Given the description of an element on the screen output the (x, y) to click on. 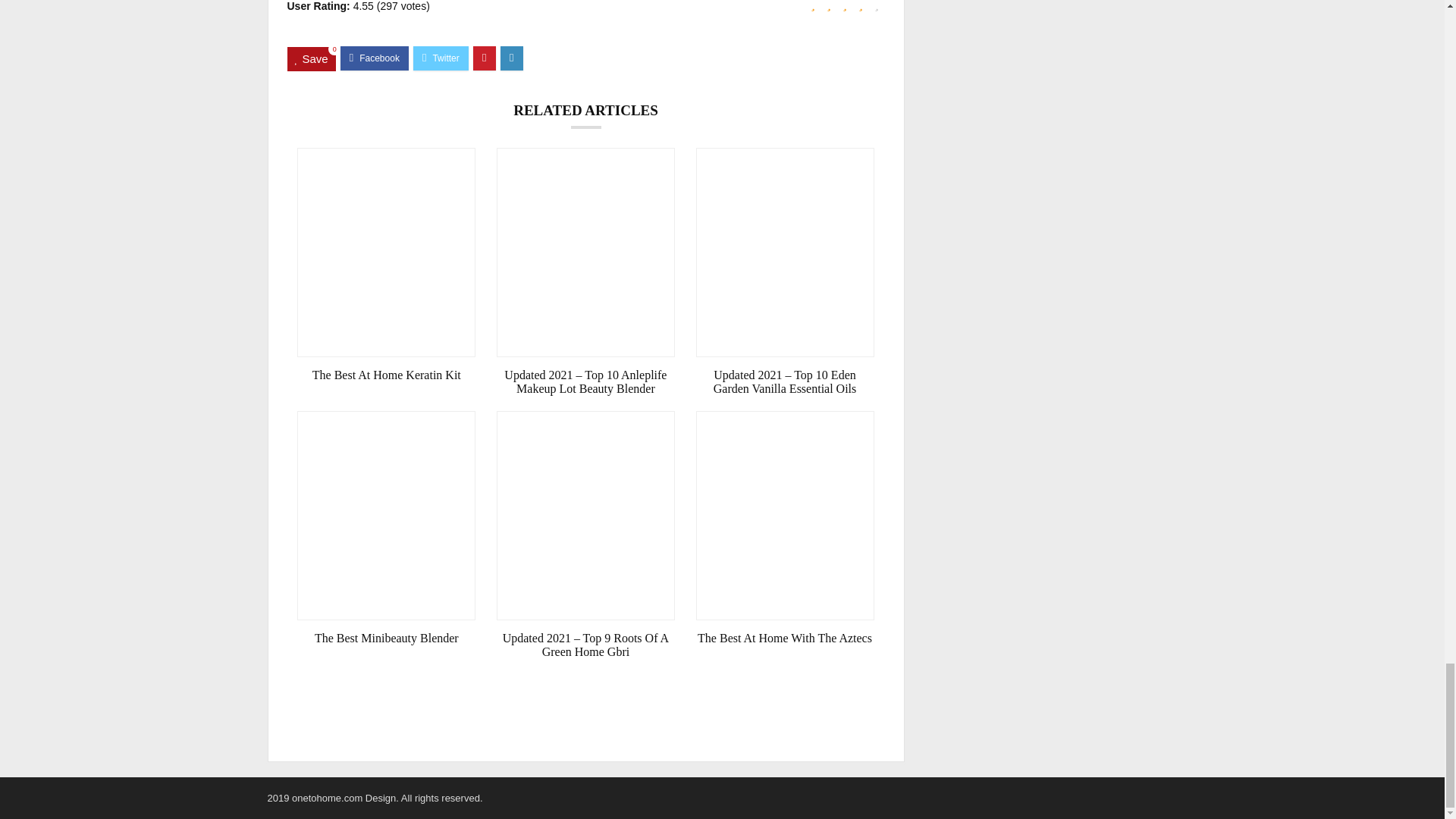
The Best Minibeauty Blender (386, 638)
The Best At Home With The Aztecs (785, 638)
The Best At Home Keratin Kit (386, 375)
